Given the description of an element on the screen output the (x, y) to click on. 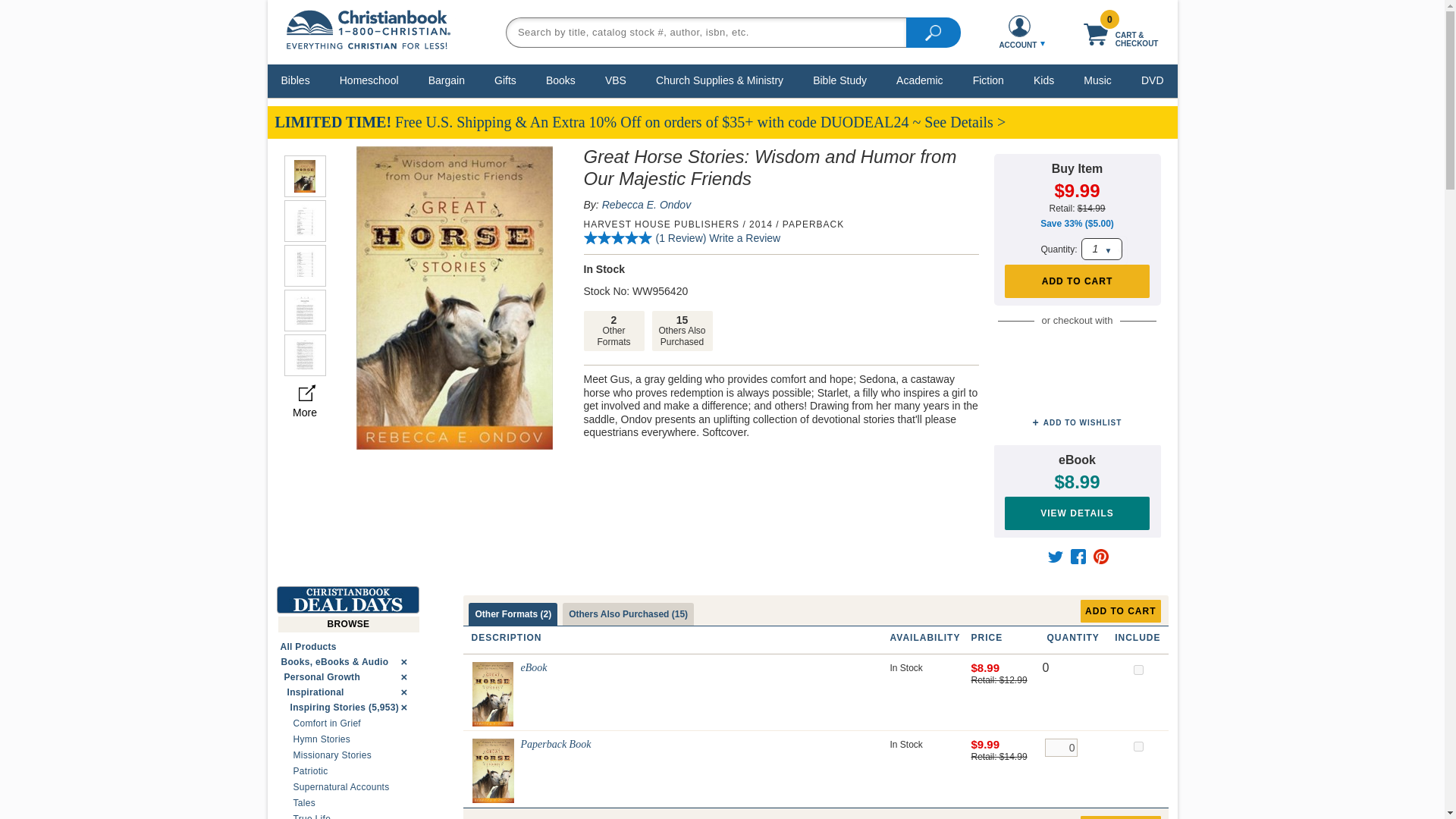
Academic (919, 79)
Books (560, 79)
SEARCH (932, 31)
Rebecca E. Ondov (646, 204)
Gifts (505, 79)
956420 (1137, 746)
Bargain (446, 79)
PayPal (1076, 348)
VBS (615, 79)
Kids (1043, 79)
Homeschool (369, 79)
Bible Study (682, 331)
Write a Review (840, 79)
Bibles (744, 237)
